Given the description of an element on the screen output the (x, y) to click on. 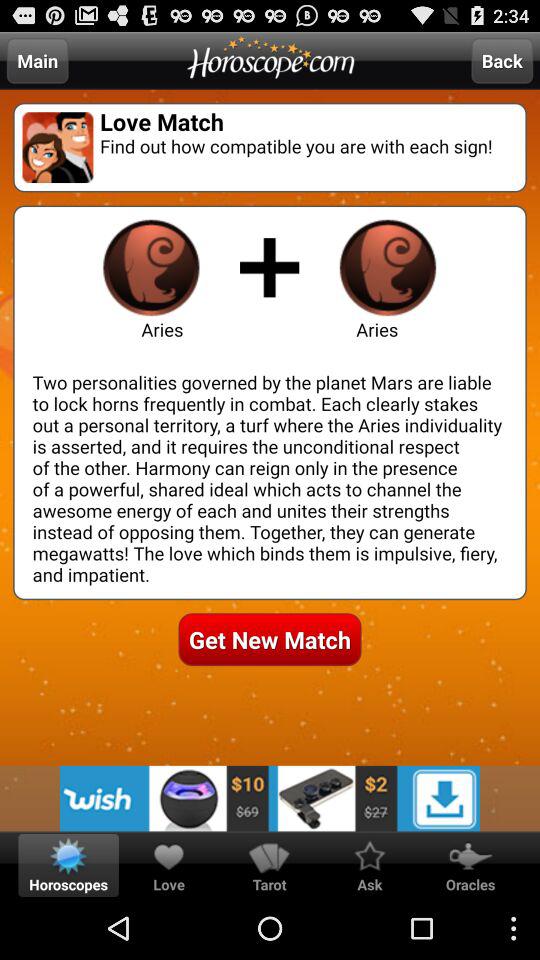
adversement (270, 798)
